Given the description of an element on the screen output the (x, y) to click on. 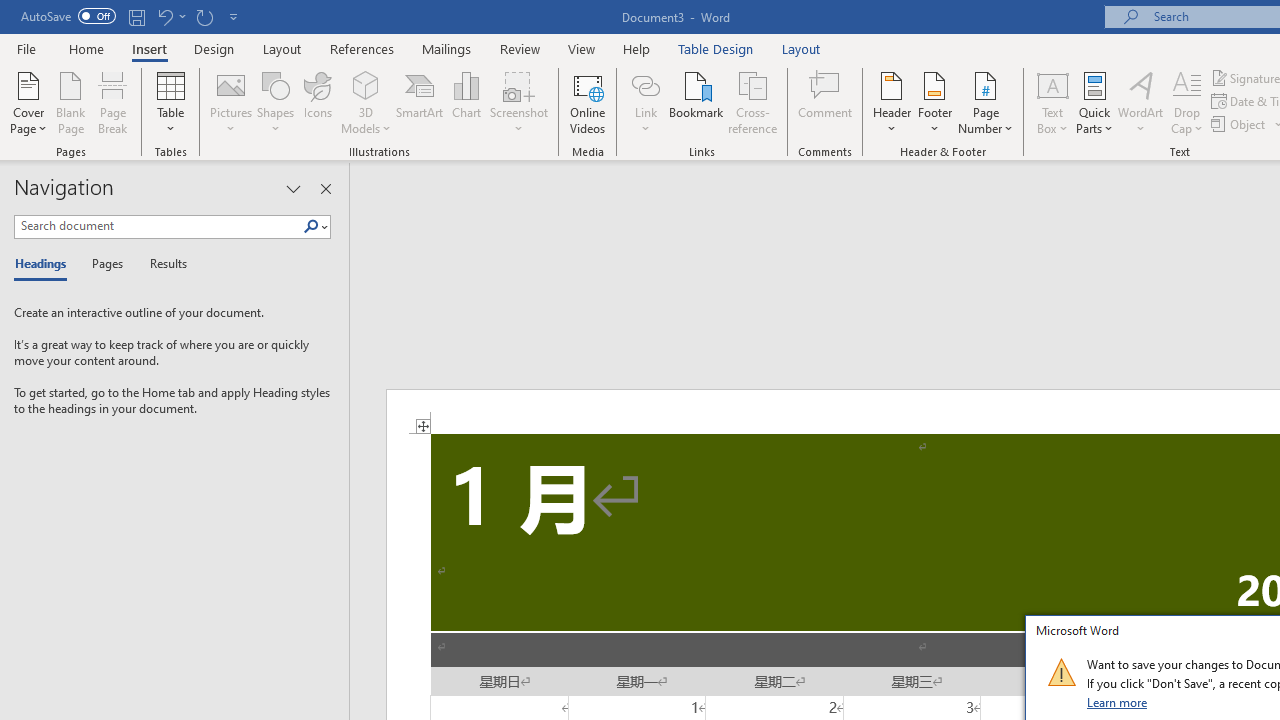
Learn more (1118, 702)
SmartArt... (419, 102)
Page Number (986, 102)
Cover Page (28, 102)
Footer (934, 102)
Icons (317, 102)
